Given the description of an element on the screen output the (x, y) to click on. 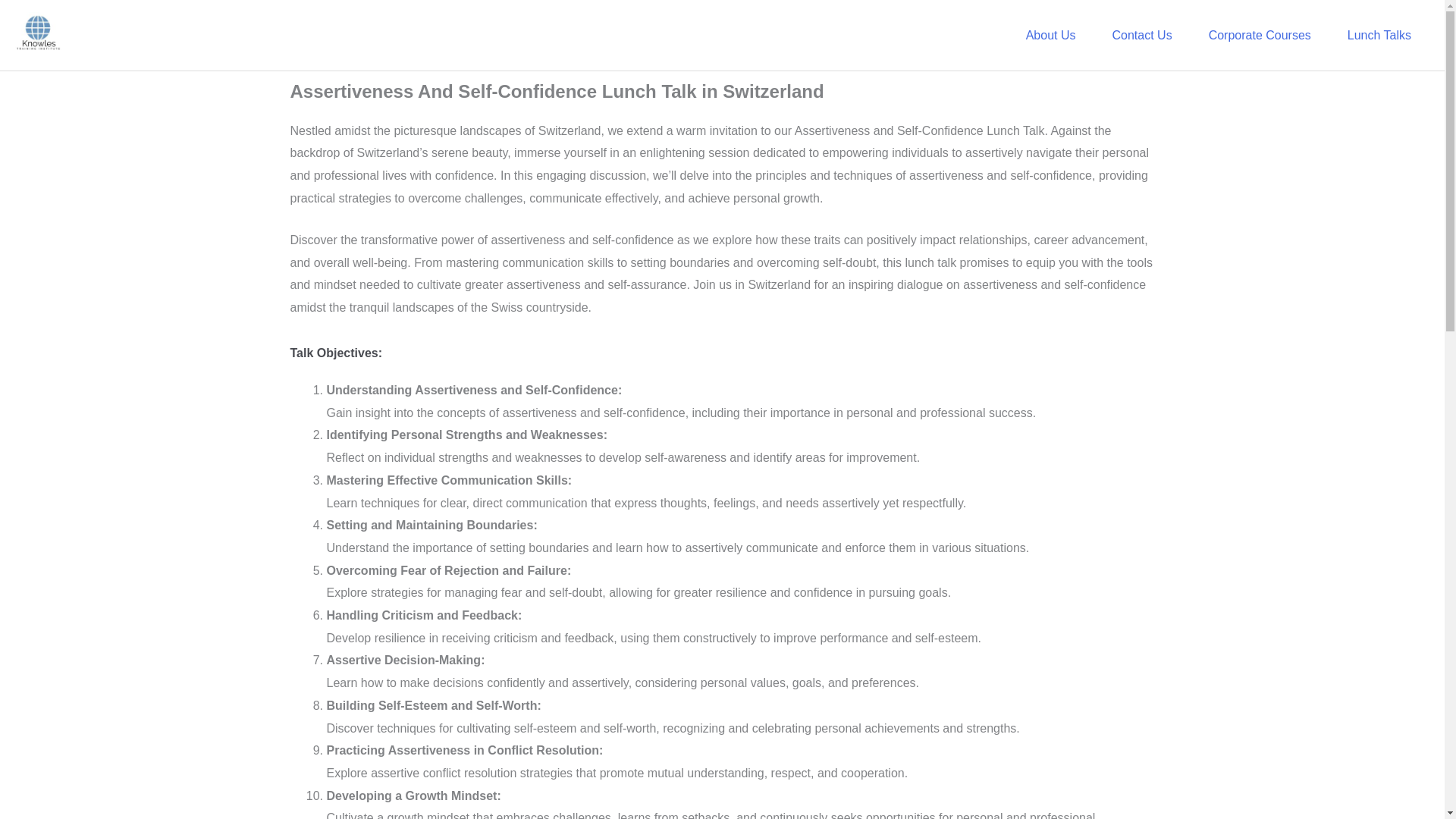
About Us (1050, 34)
Contact Us (1141, 34)
Lunch Talks (1379, 34)
Corporate Courses (1260, 34)
